Given the description of an element on the screen output the (x, y) to click on. 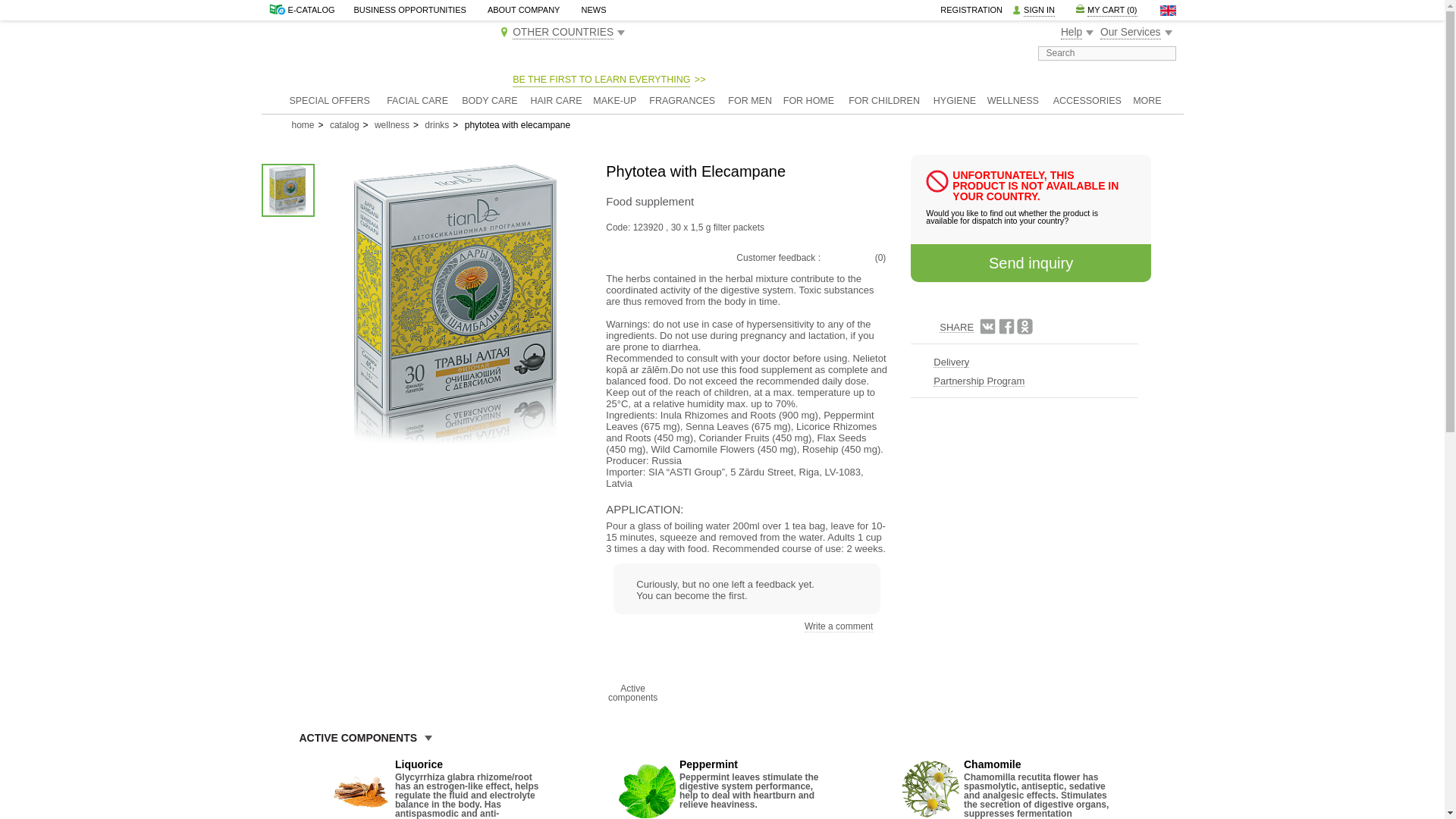
BUSINESS OPPORTUNITIES (409, 9)
SIGN IN (1038, 10)
REGISTRATION (971, 9)
OTHER COUNTRIES (562, 32)
ABOUT COMPANY (523, 9)
NEWS (593, 9)
